Given the description of an element on the screen output the (x, y) to click on. 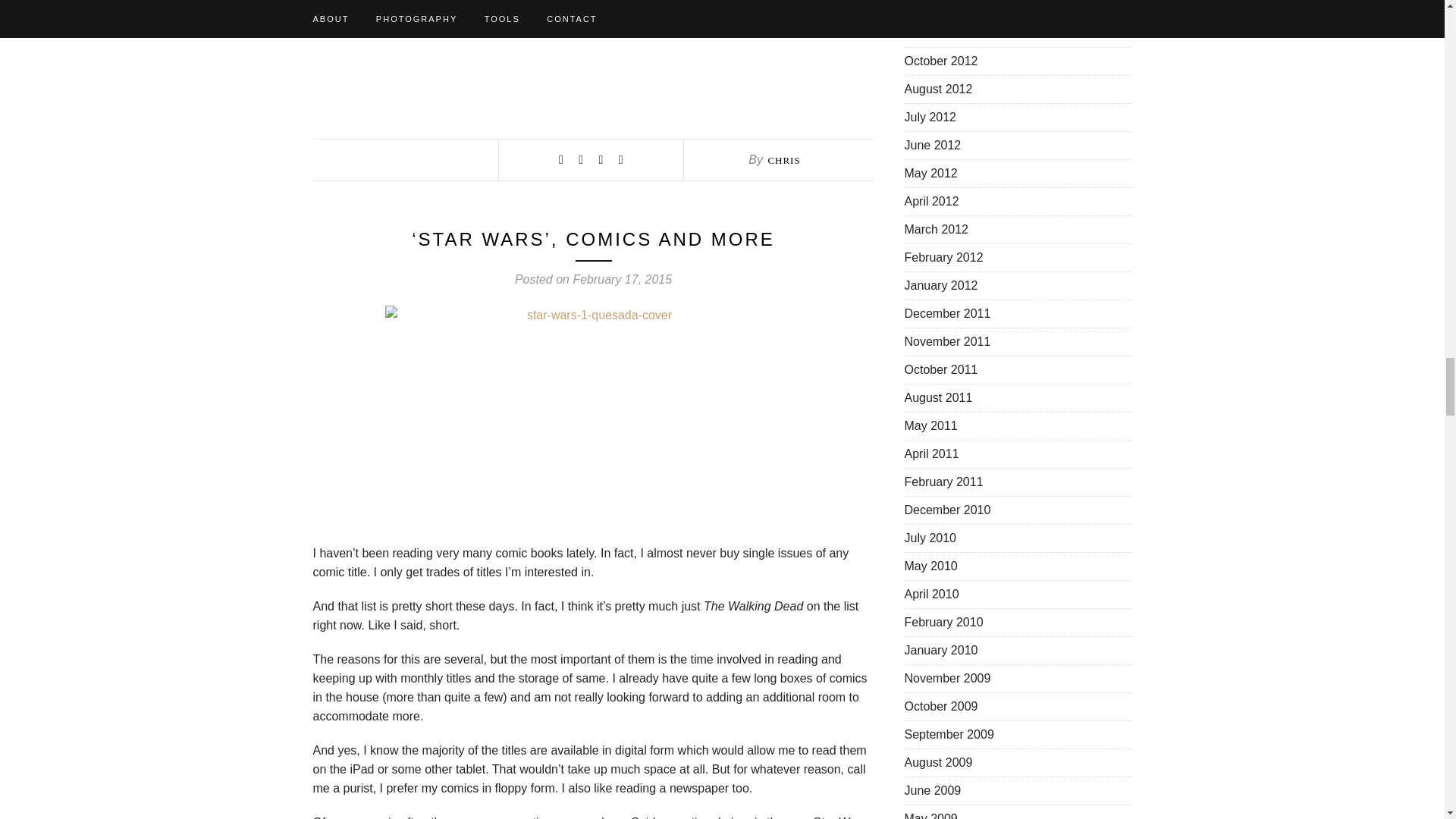
CHRIS (783, 160)
Posts by Chris (783, 160)
